Given the description of an element on the screen output the (x, y) to click on. 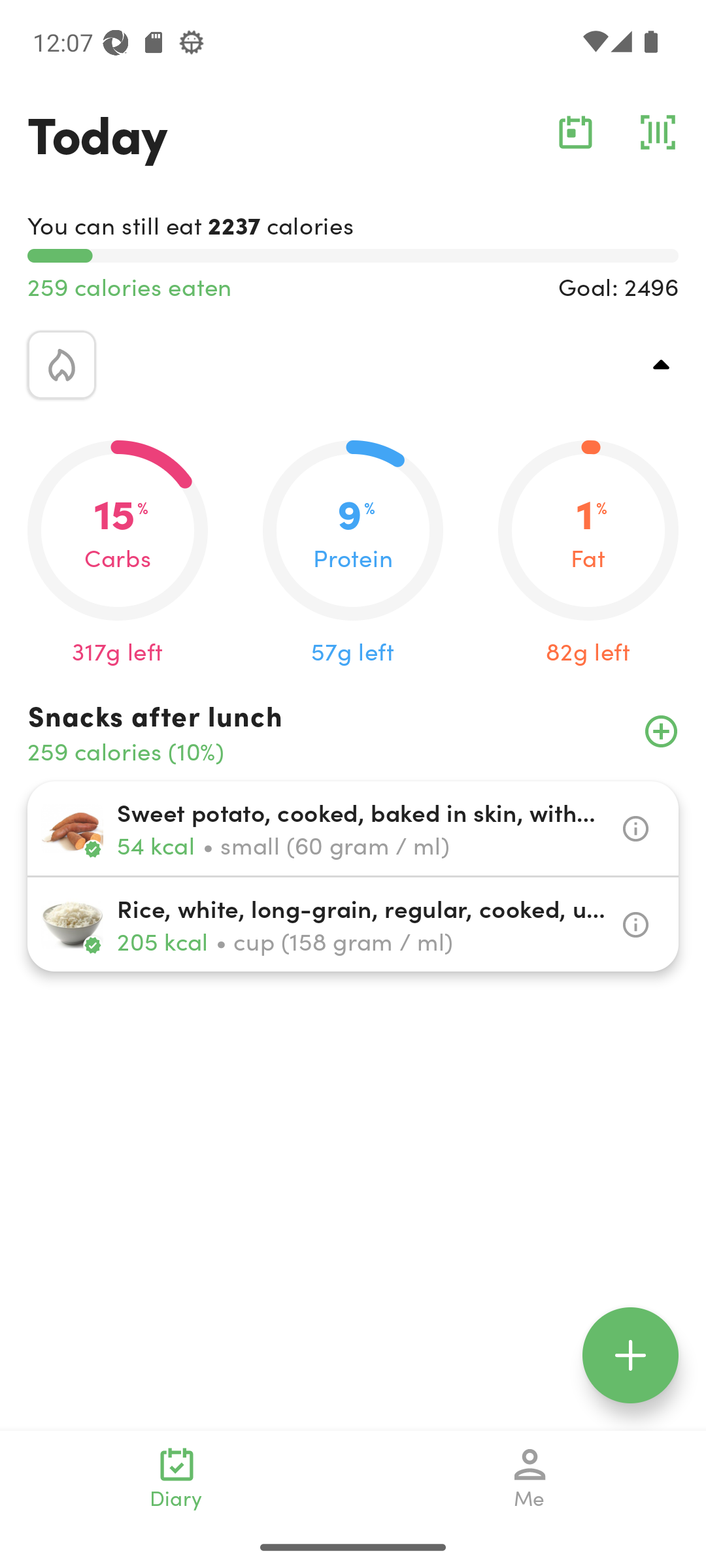
calendar_action (575, 132)
barcode_action (658, 132)
calorie_icon (62, 365)
top_right_action (661, 365)
0.15 15 % Carbs 317g left (117, 553)
0.09 9 % Protein 57g left (352, 553)
0.01 1 % Fat 82g left (588, 553)
info_icon (636, 828)
info_icon (636, 924)
floating_action_icon (630, 1355)
Me navigation_icon (529, 1478)
